Given the description of an element on the screen output the (x, y) to click on. 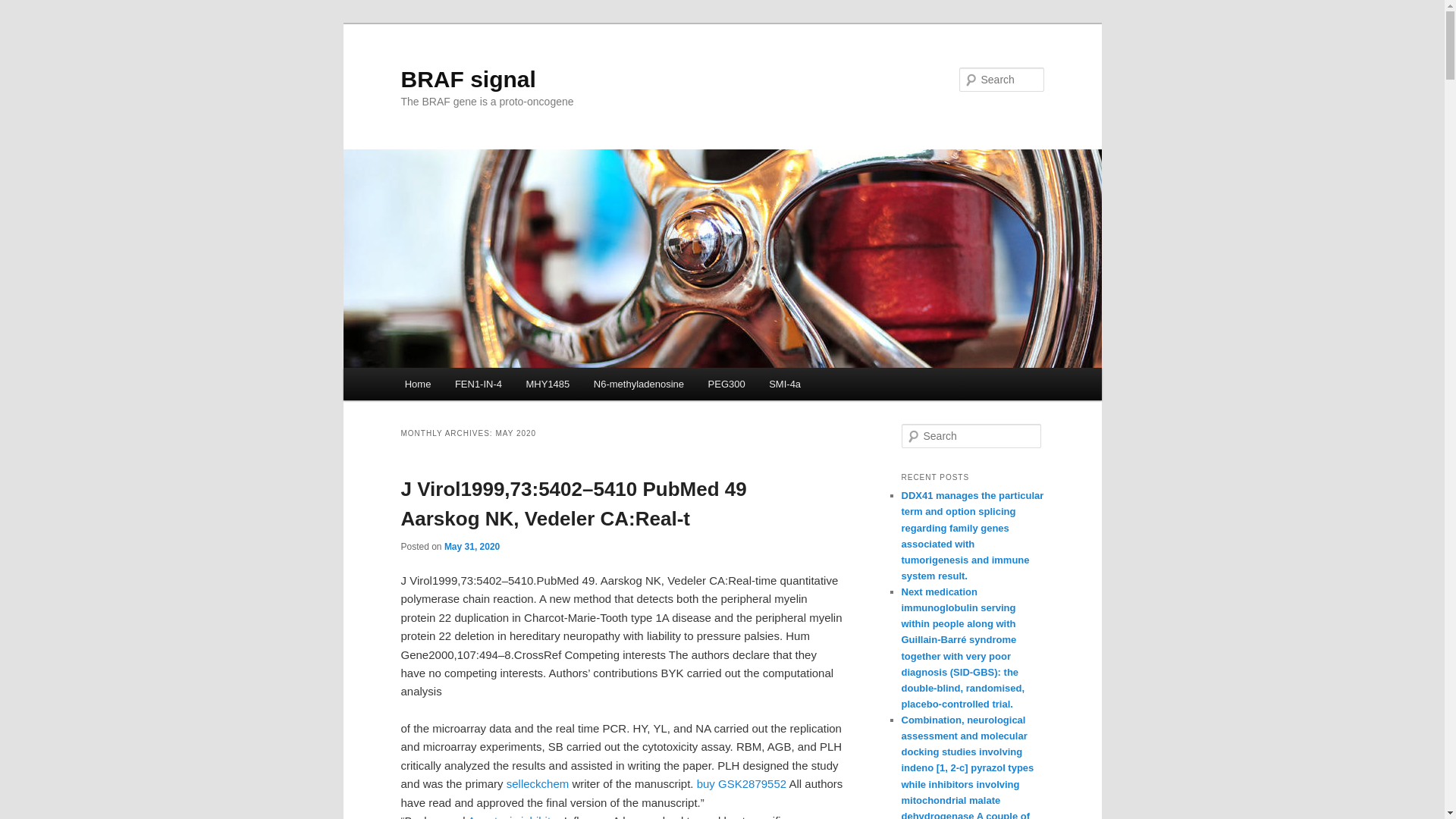
May 31, 2020 (471, 546)
Skip to secondary content (479, 386)
Home (417, 383)
SMI-4a (784, 383)
MHY1485 (546, 383)
buy GSK2879552 (741, 783)
Skip to primary content (472, 386)
10:24 am (471, 546)
PEG300 (726, 383)
Home (417, 383)
Search (24, 8)
BRAF signal (467, 78)
N6-methyladenosine (637, 383)
Skip to secondary content (479, 386)
FEN1-IN-4 (477, 383)
